Given the description of an element on the screen output the (x, y) to click on. 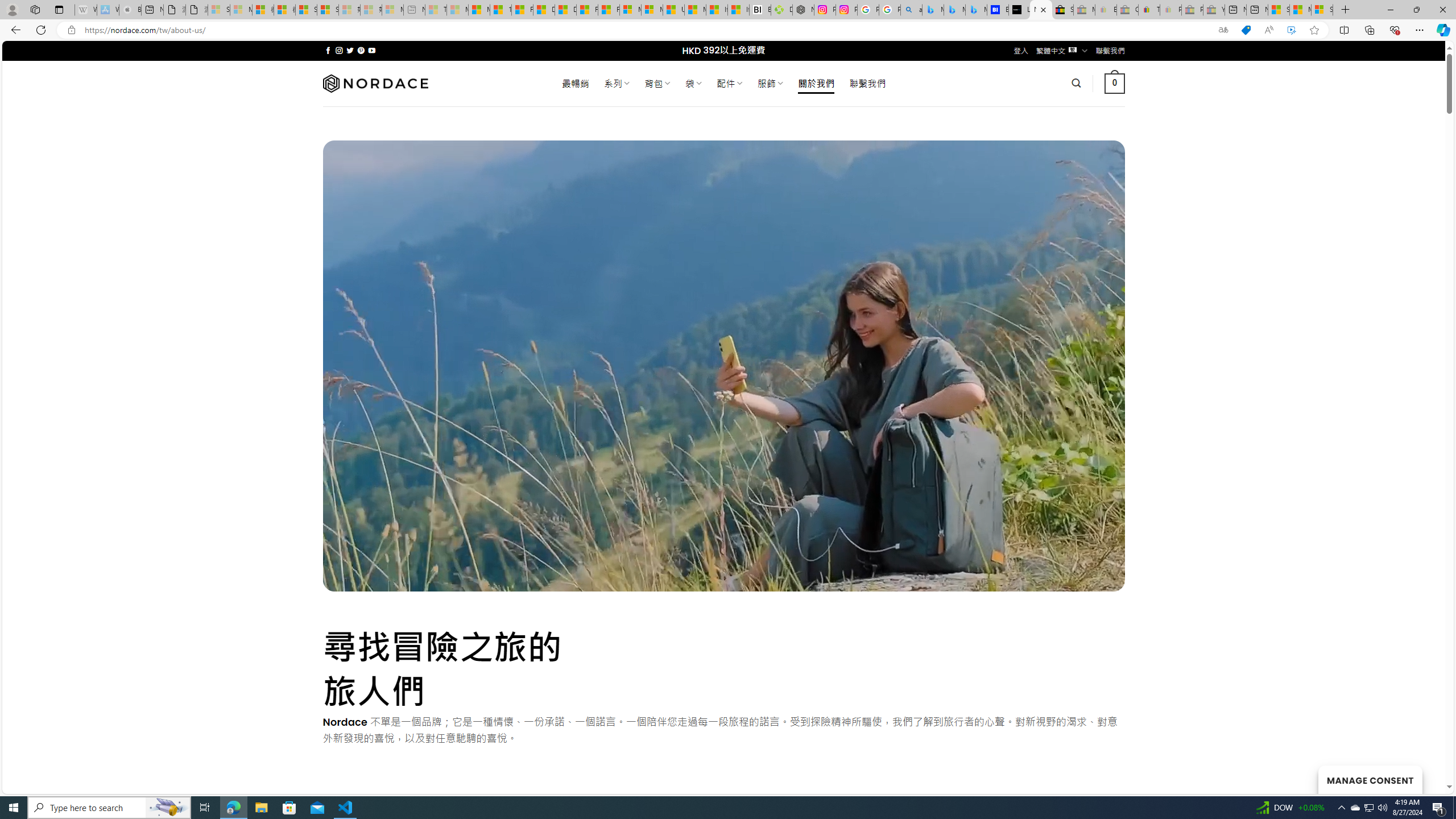
MANAGE CONSENT (1369, 779)
Buy iPad - Apple - Sleeping (130, 9)
